Given the description of an element on the screen output the (x, y) to click on. 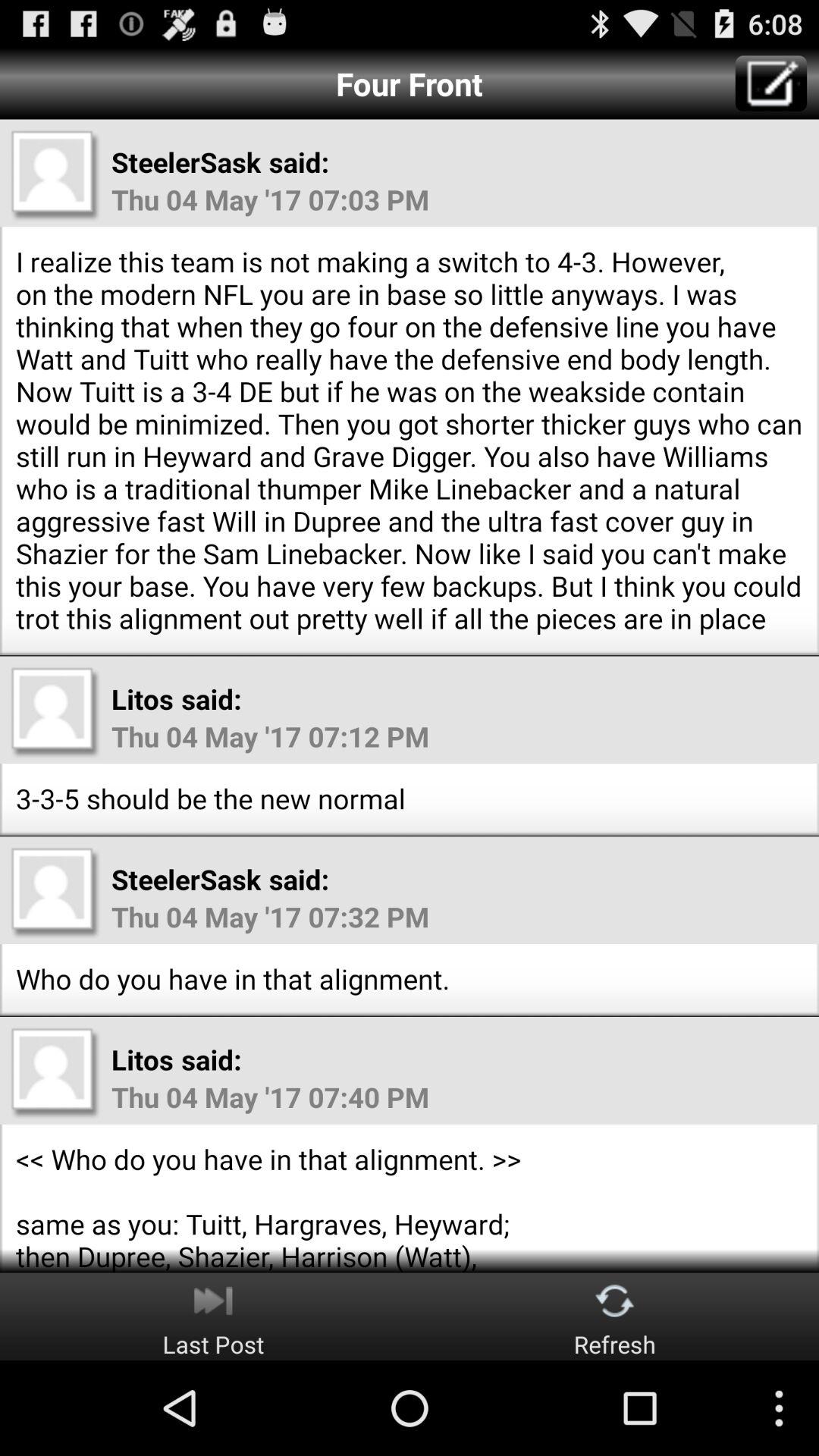
jump to i realize this app (409, 439)
